Given the description of an element on the screen output the (x, y) to click on. 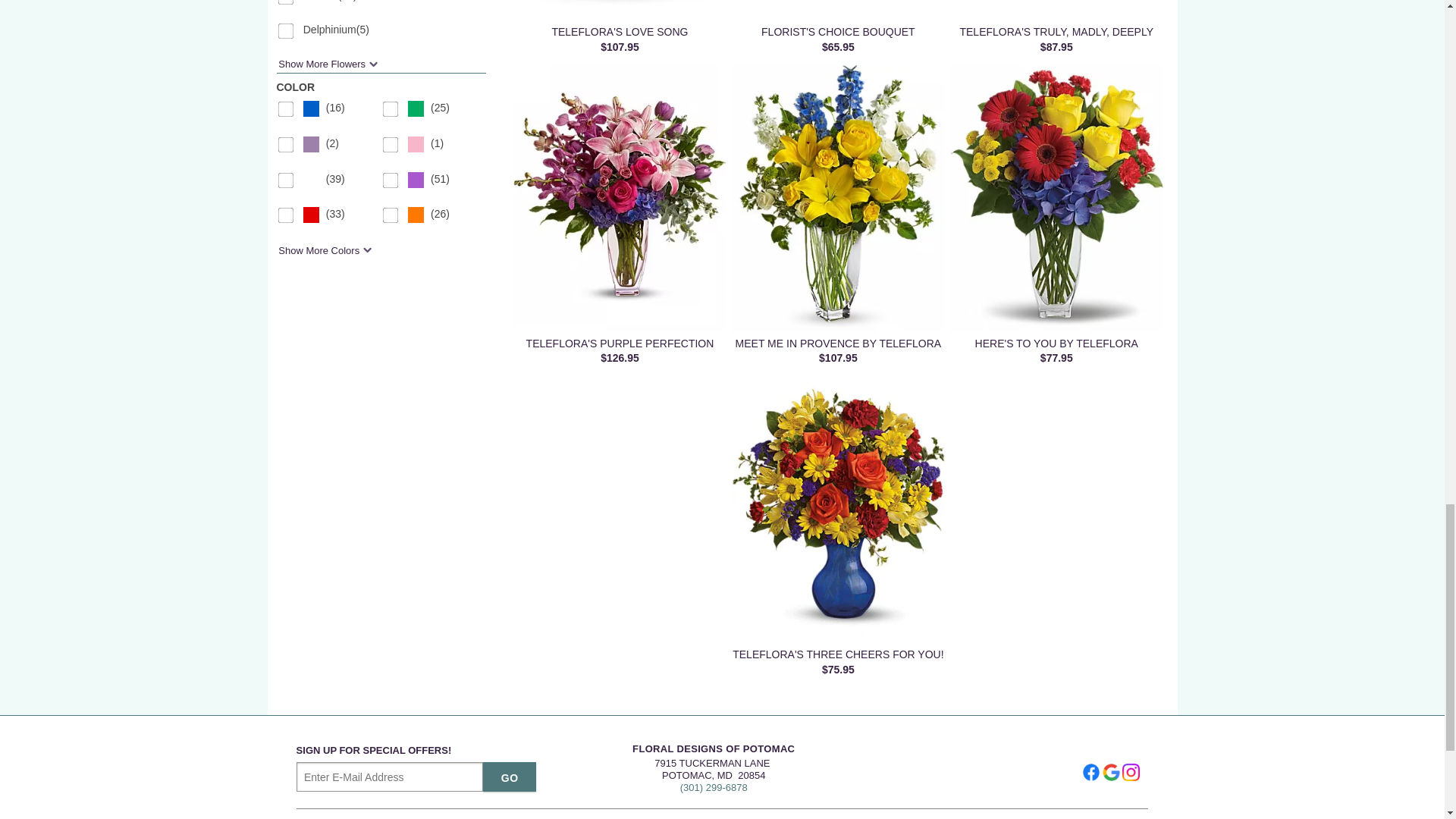
Email Sign up (390, 777)
Go (509, 777)
go (509, 777)
